Given the description of an element on the screen output the (x, y) to click on. 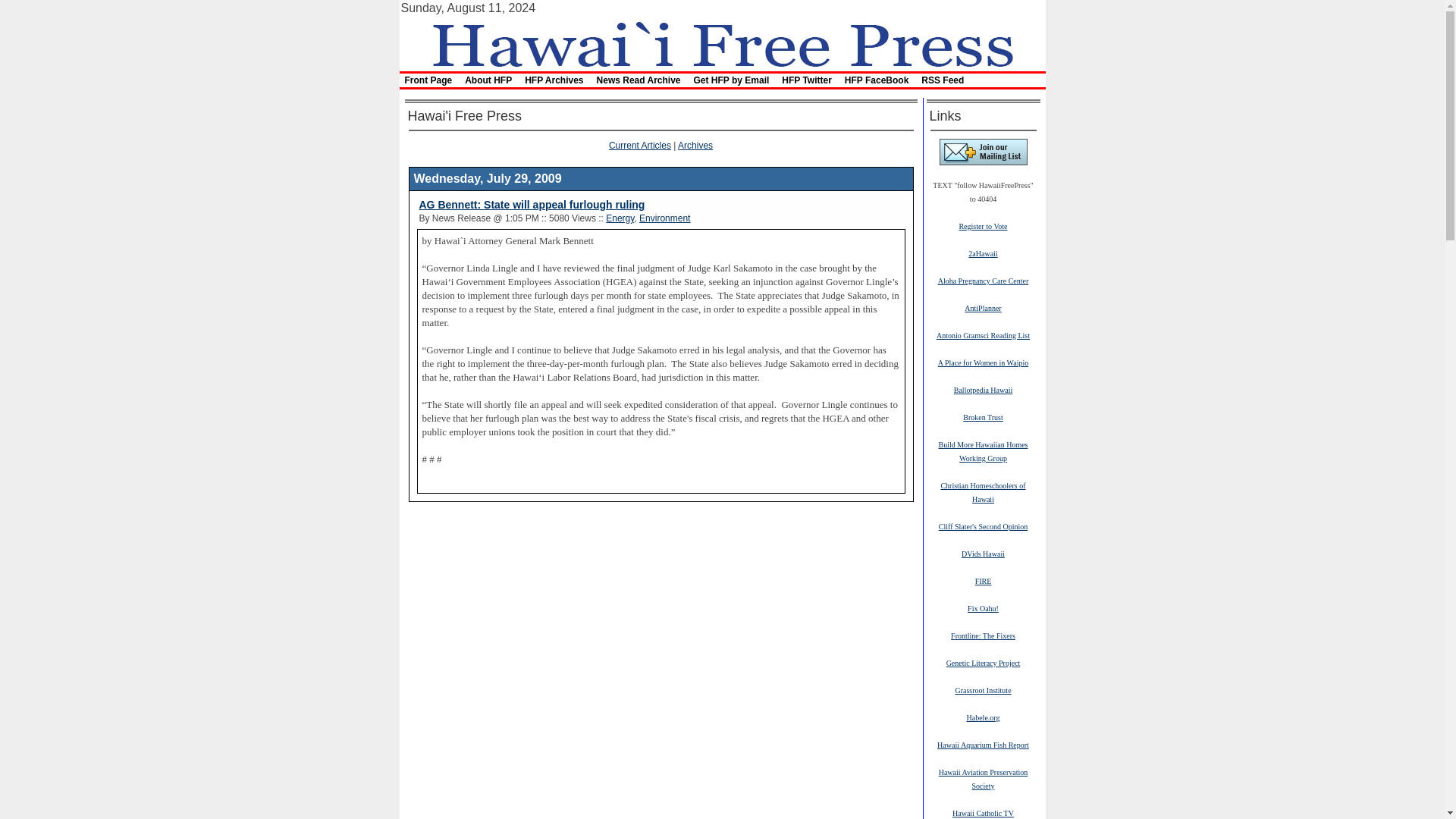
Build More Hawaiian Homes Working Group (982, 450)
Hawaii Free Press (721, 42)
Hawaii Catholic TV (982, 812)
A Place for Women in Waipio (982, 362)
AG Bennett: State will appeal furlough ruling (532, 204)
Antonio Gramsci Reading List (982, 335)
Christian Homeschoolers of Hawaii (982, 491)
Current Articles (639, 145)
Energy (619, 217)
Frontline: The Fixers (982, 634)
